Given the description of an element on the screen output the (x, y) to click on. 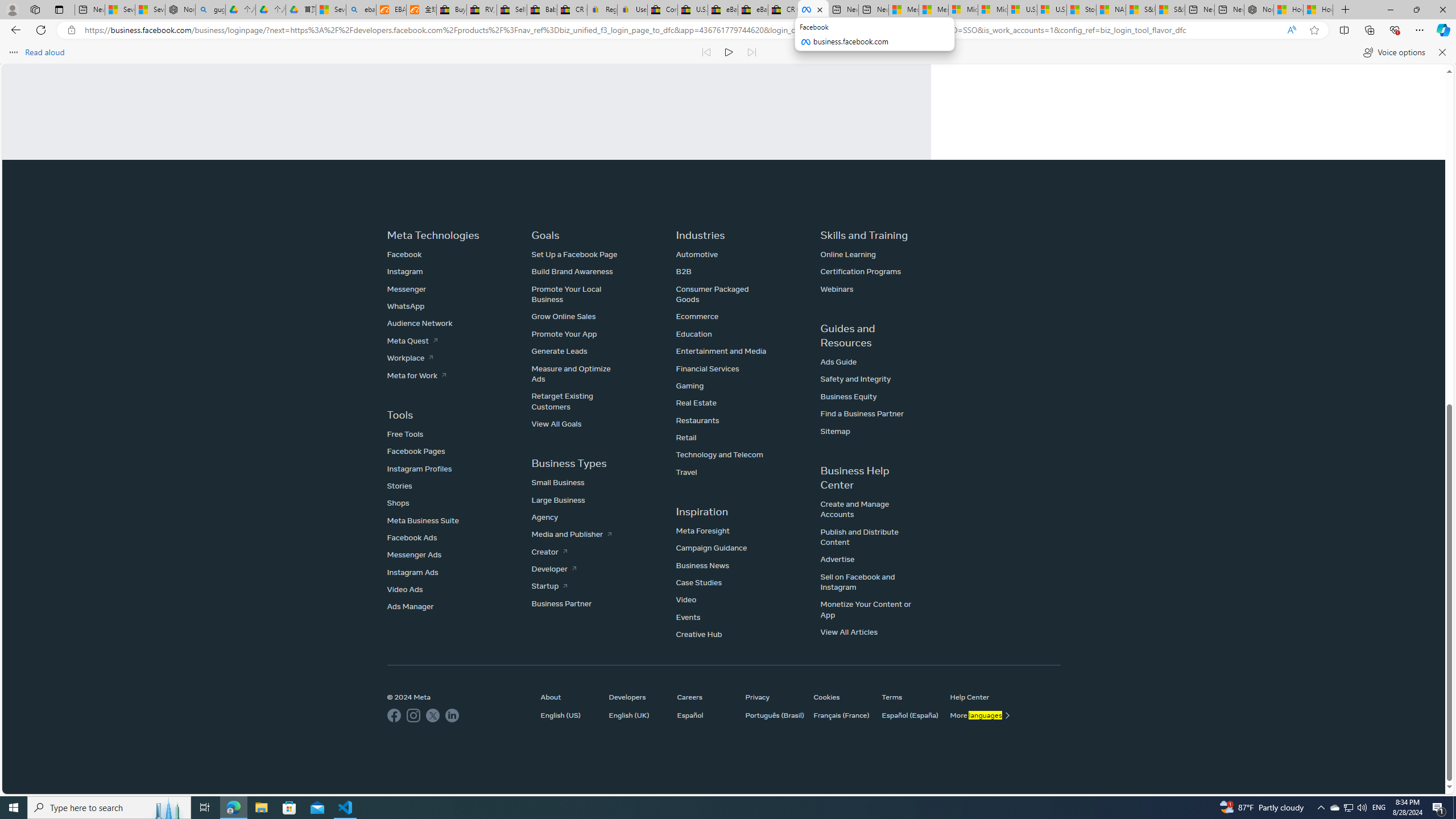
Developers (636, 696)
Sell on Facebook and Instagram (857, 581)
Measure and Optimize Ads (571, 373)
Messenger (406, 288)
Careers (705, 696)
Consumer Packaged Goods (711, 294)
Audience Network (419, 323)
Ecommerce (697, 316)
English (UK) (636, 714)
Media and Publisher (571, 533)
U.S. State Privacy Disclosures - eBay Inc. (691, 9)
